Given the description of an element on the screen output the (x, y) to click on. 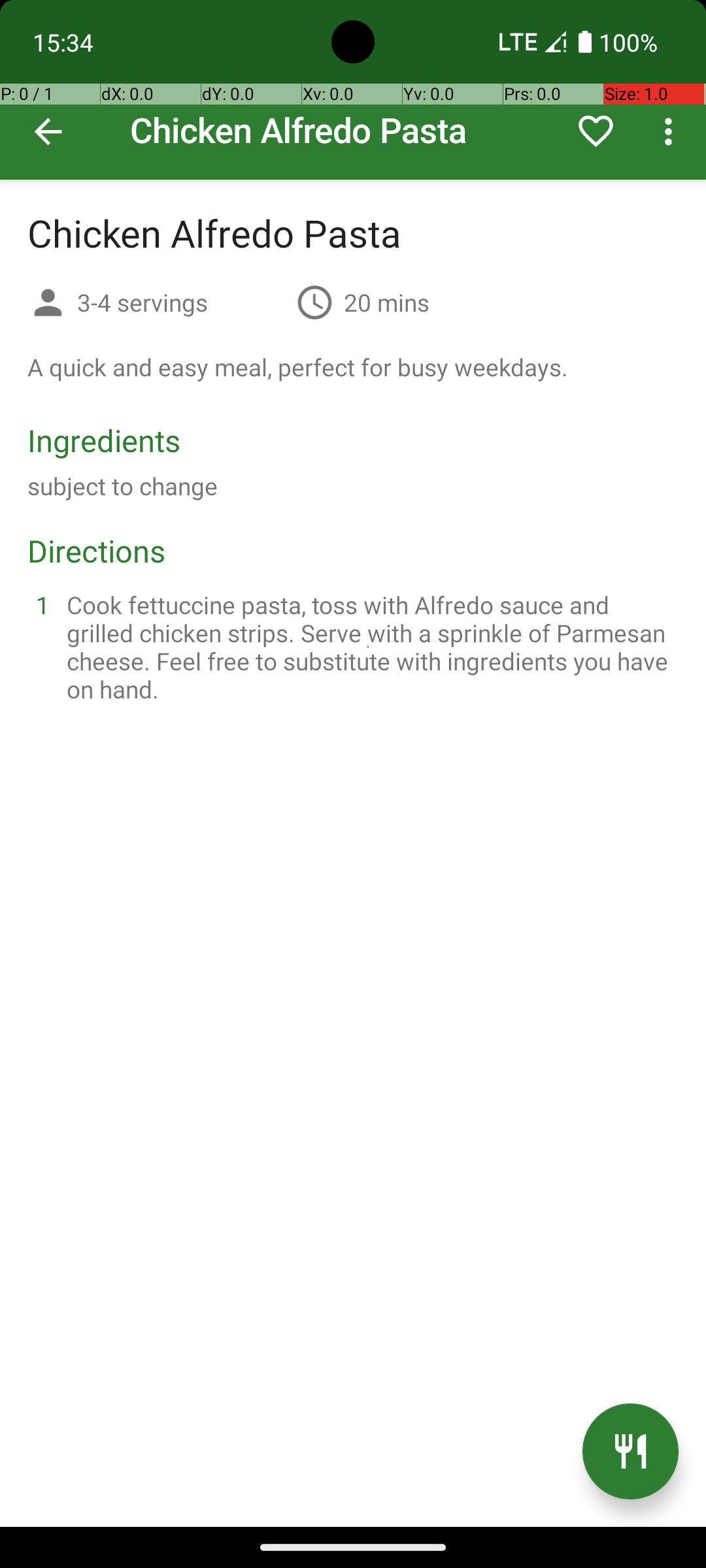
Cook fettuccine pasta, toss with Alfredo sauce and grilled chicken strips. Serve with a sprinkle of Parmesan cheese. Feel free to substitute with ingredients you have on hand. Element type: android.widget.TextView (368, 646)
